Given the description of an element on the screen output the (x, y) to click on. 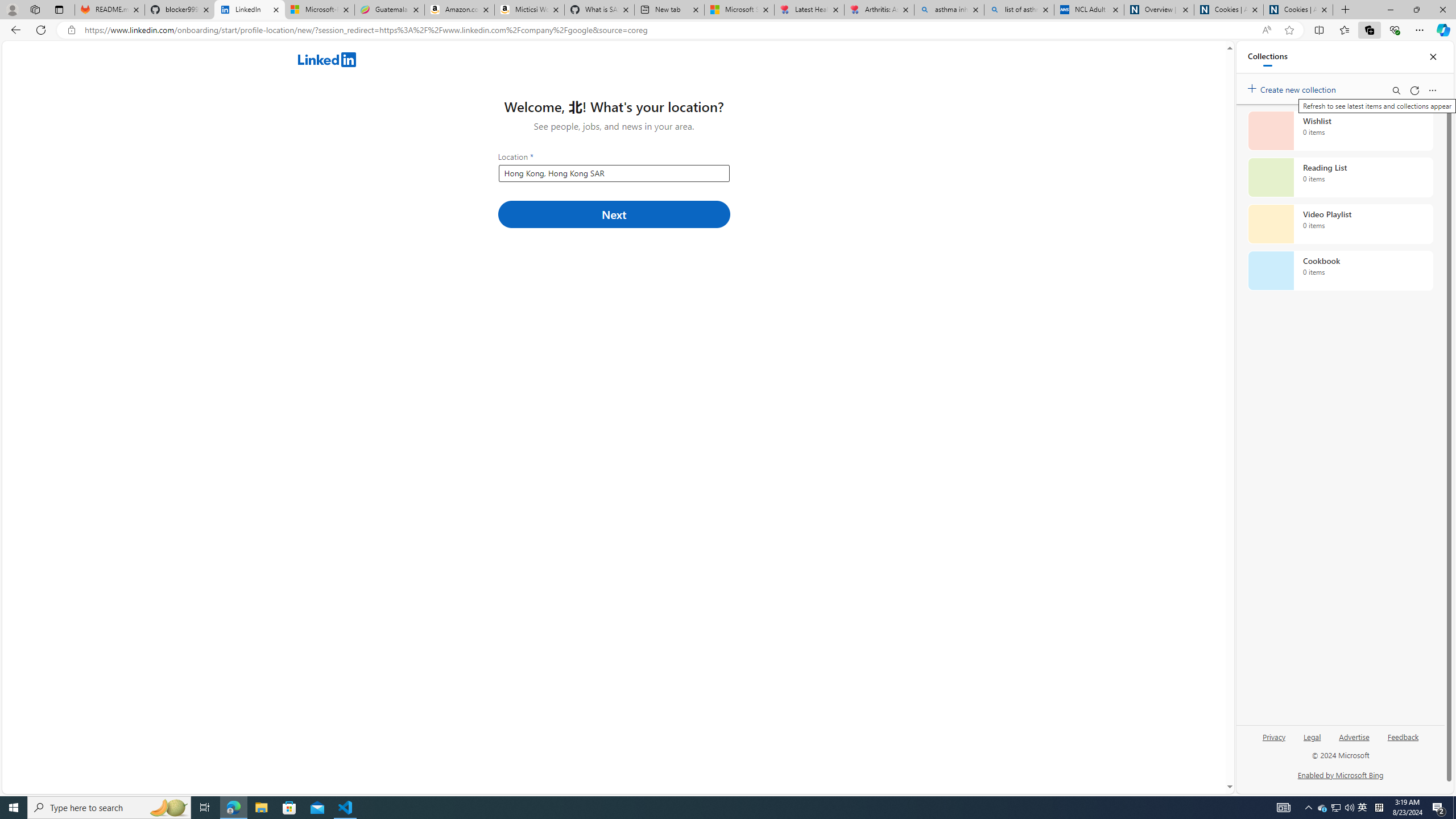
Legal (1311, 736)
Reading List collection, 0 items (1339, 177)
asthma inhaler - Search (949, 9)
